Given the description of an element on the screen output the (x, y) to click on. 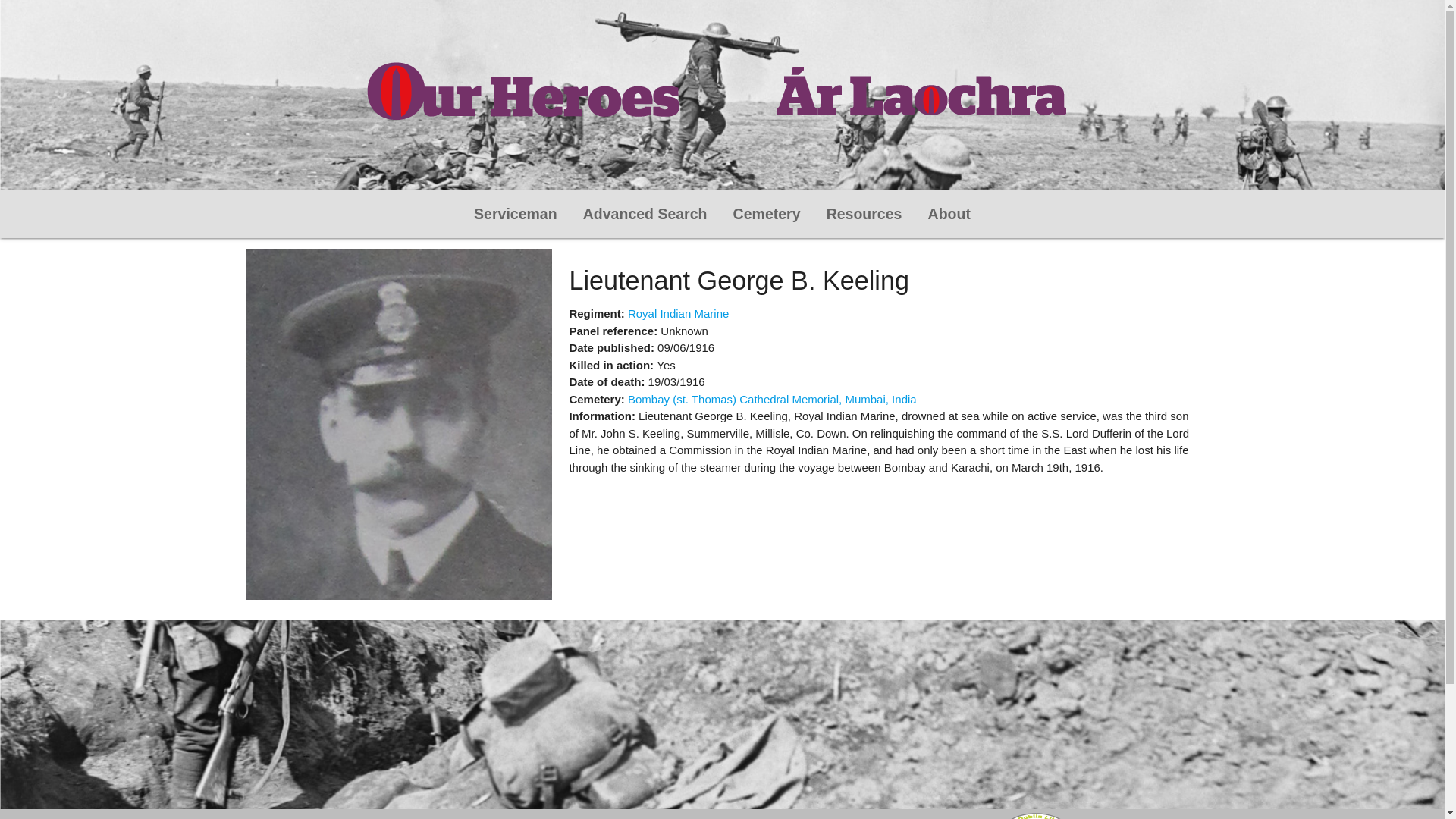
Serviceman (516, 213)
Resources (864, 213)
Cemetery (767, 213)
Advanced Search (645, 213)
About (949, 213)
Royal Indian Marine (678, 313)
